Given the description of an element on the screen output the (x, y) to click on. 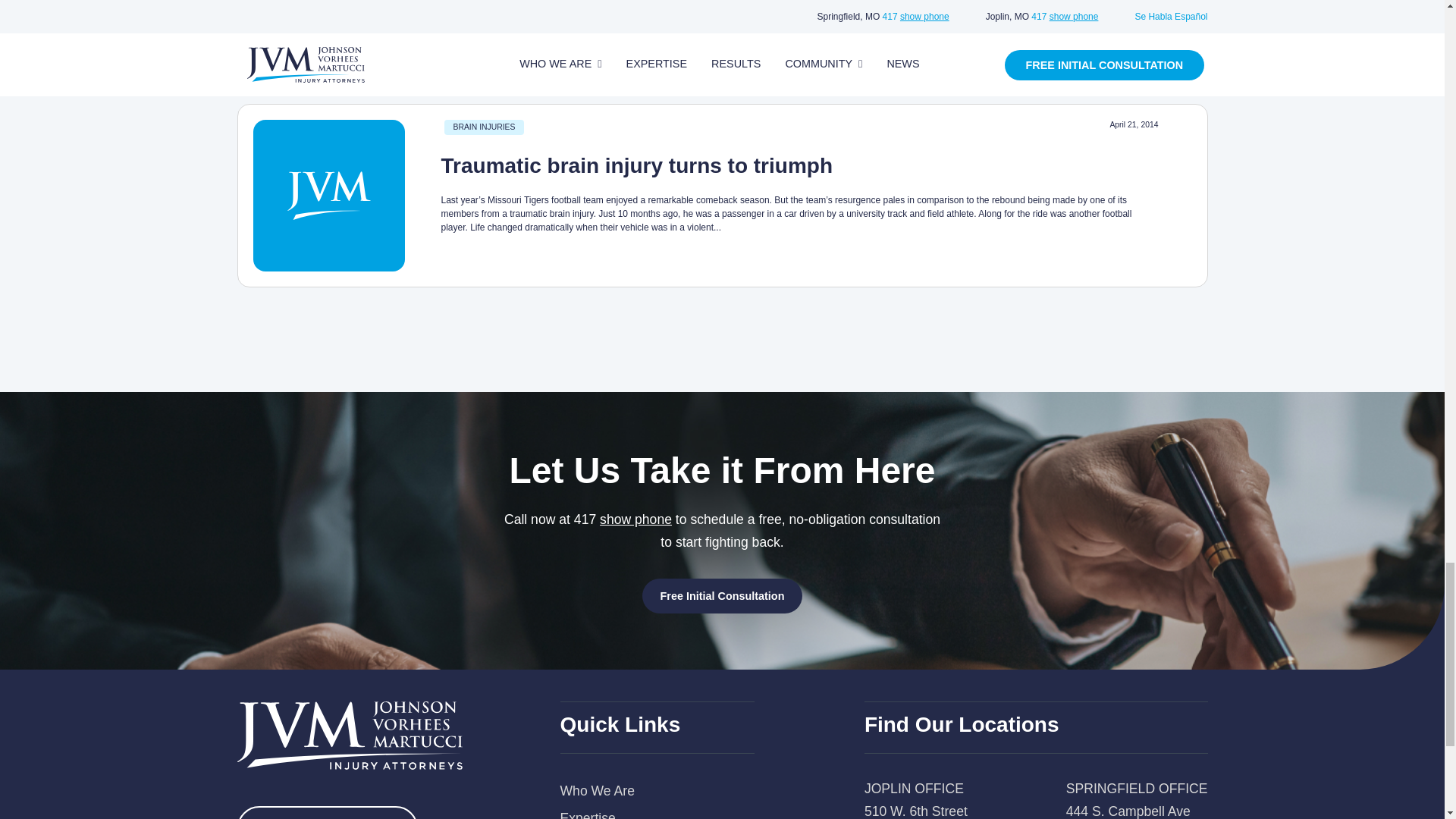
Traumatic brain injury turns to triumph (636, 165)
Free Initial Consultation (722, 595)
